Given the description of an element on the screen output the (x, y) to click on. 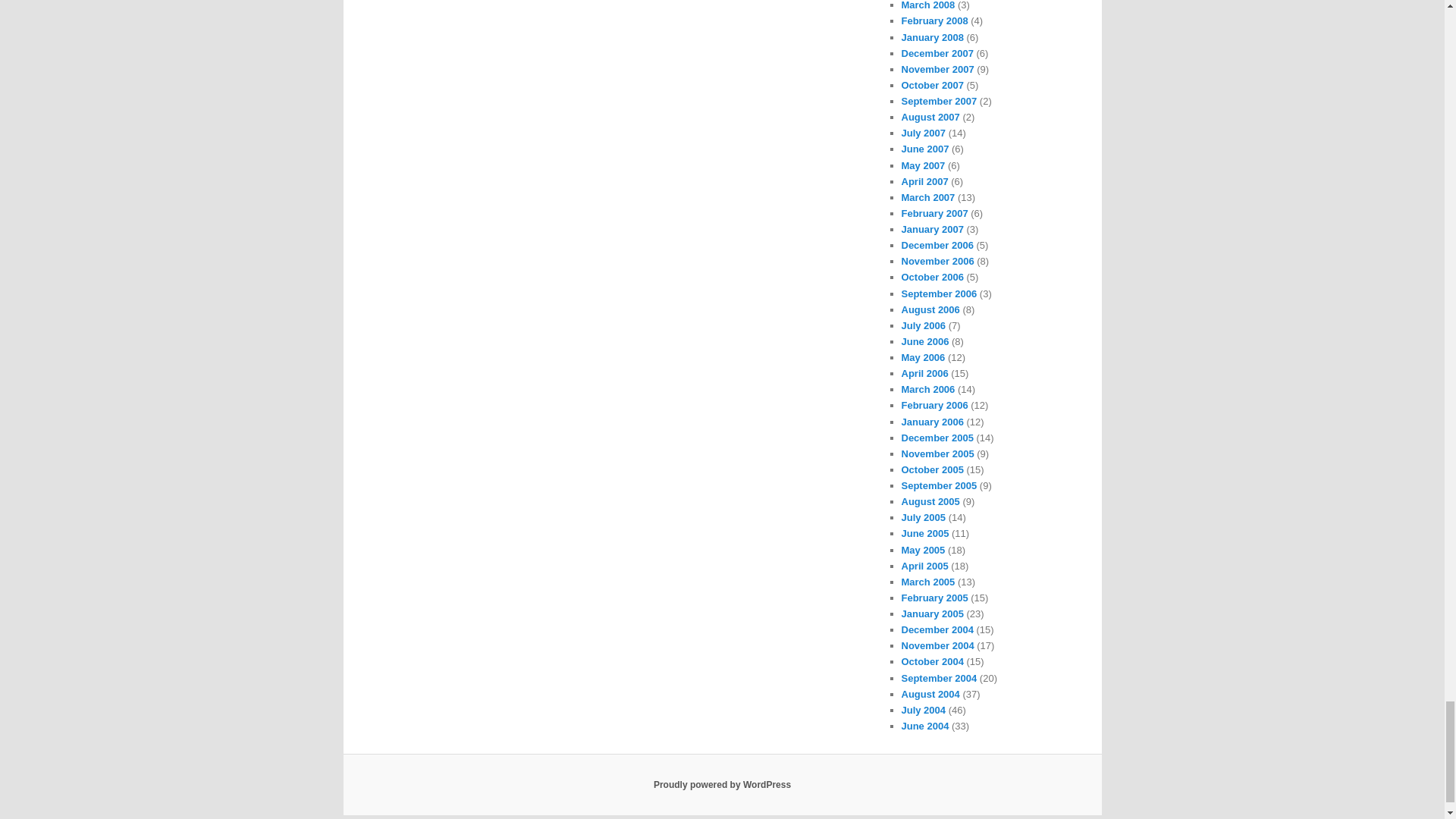
Semantic Personal Publishing Platform (721, 784)
